Given the description of an element on the screen output the (x, y) to click on. 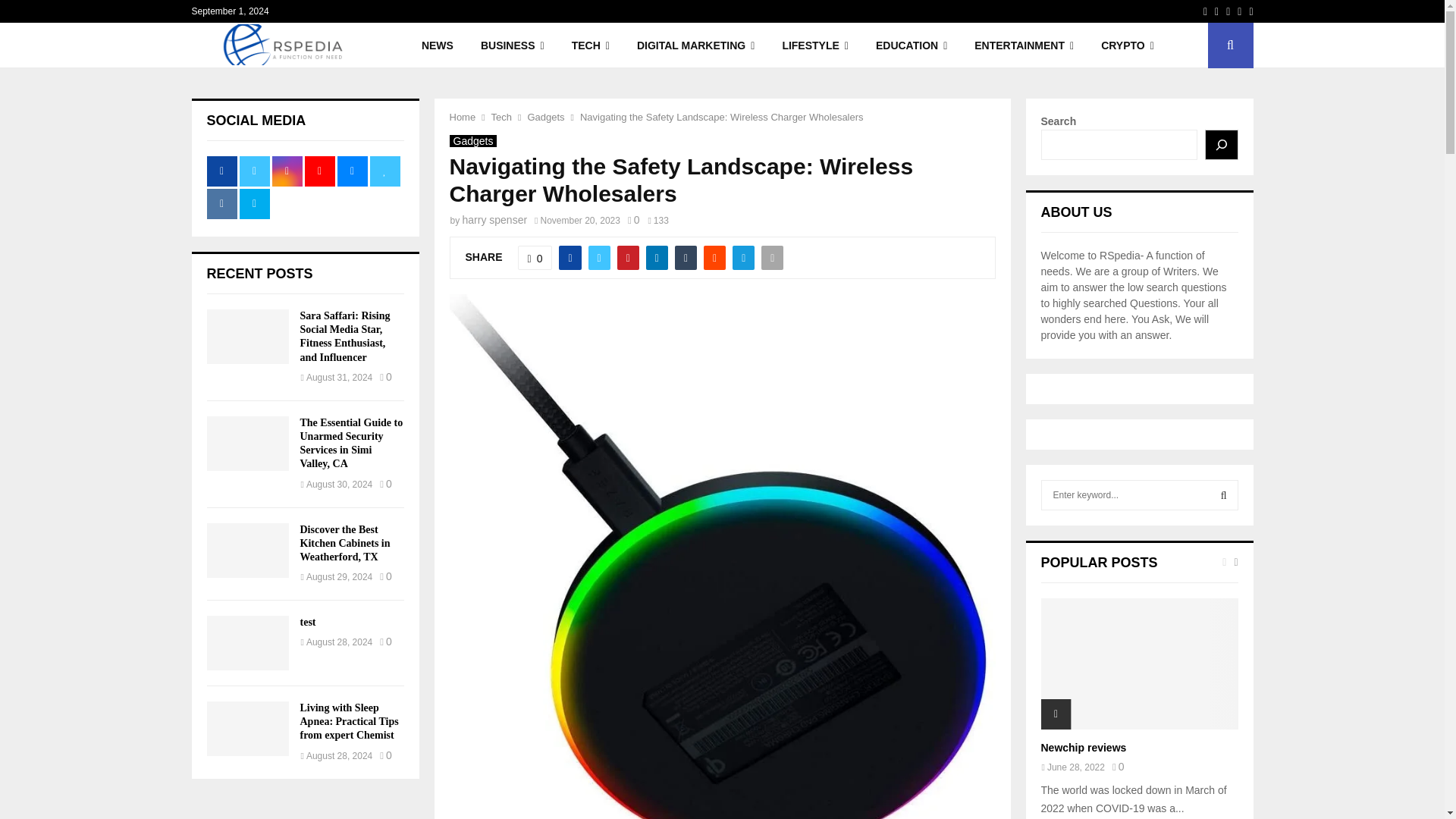
NEWS (437, 44)
TECH (590, 44)
BUSINESS (512, 44)
DIGITAL MARKETING (695, 44)
